Given the description of an element on the screen output the (x, y) to click on. 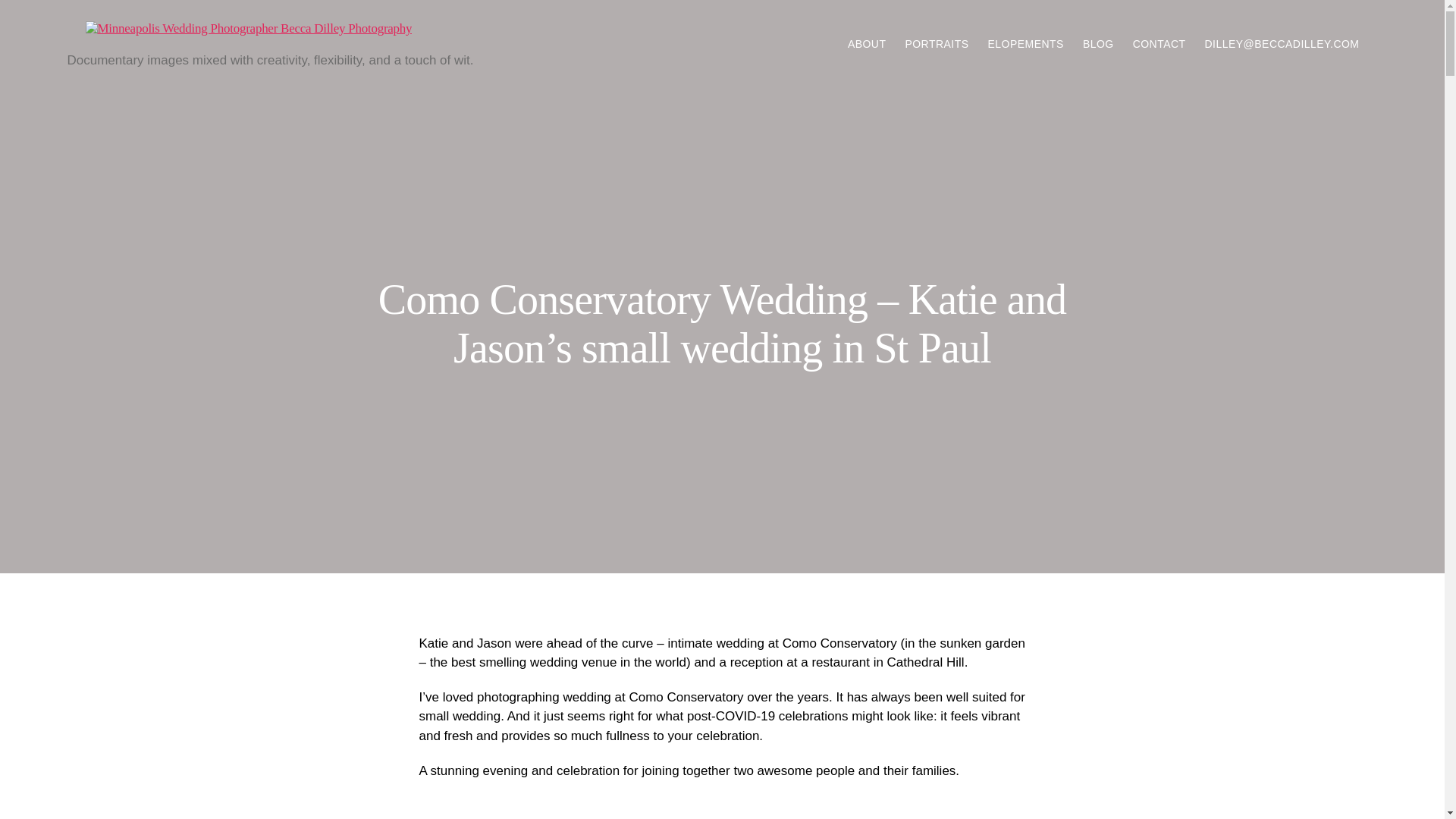
BLOG (1098, 43)
CONTACT (1159, 43)
PORTRAITS (936, 43)
ABOUT (866, 43)
ELOPEMENTS (1026, 43)
